Given the description of an element on the screen output the (x, y) to click on. 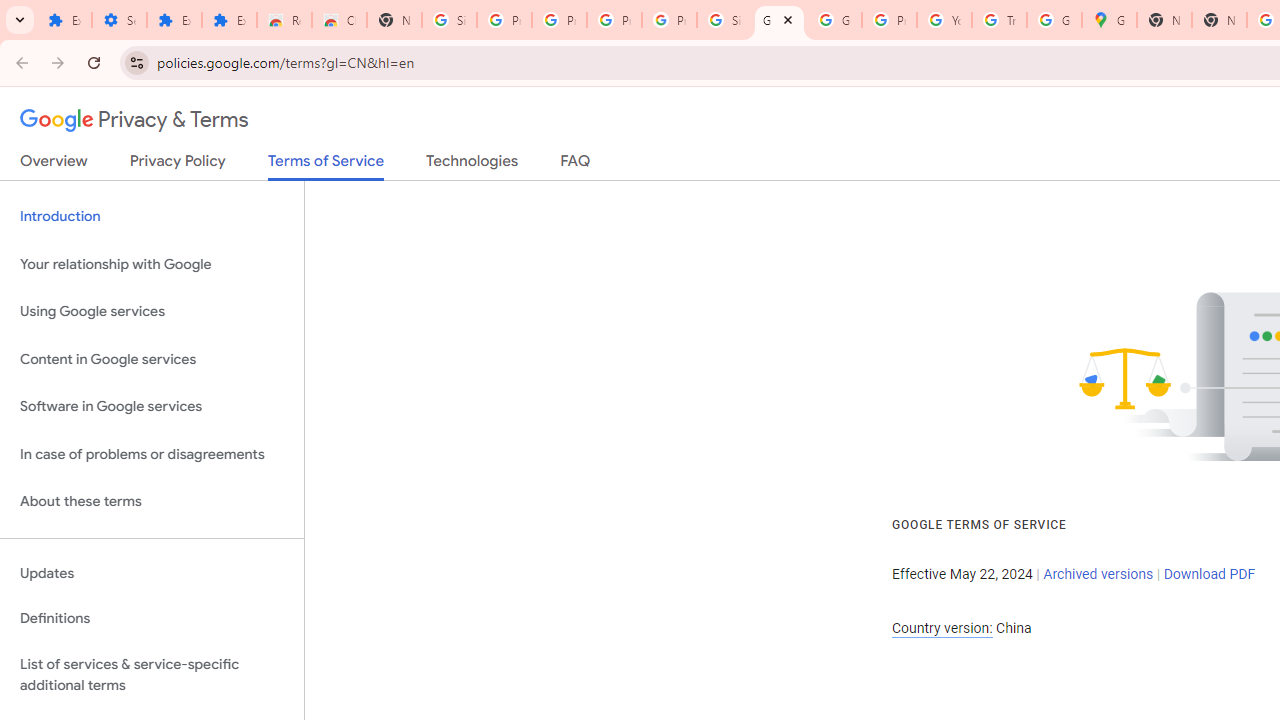
About these terms (152, 502)
YouTube (943, 20)
